Given the description of an element on the screen output the (x, y) to click on. 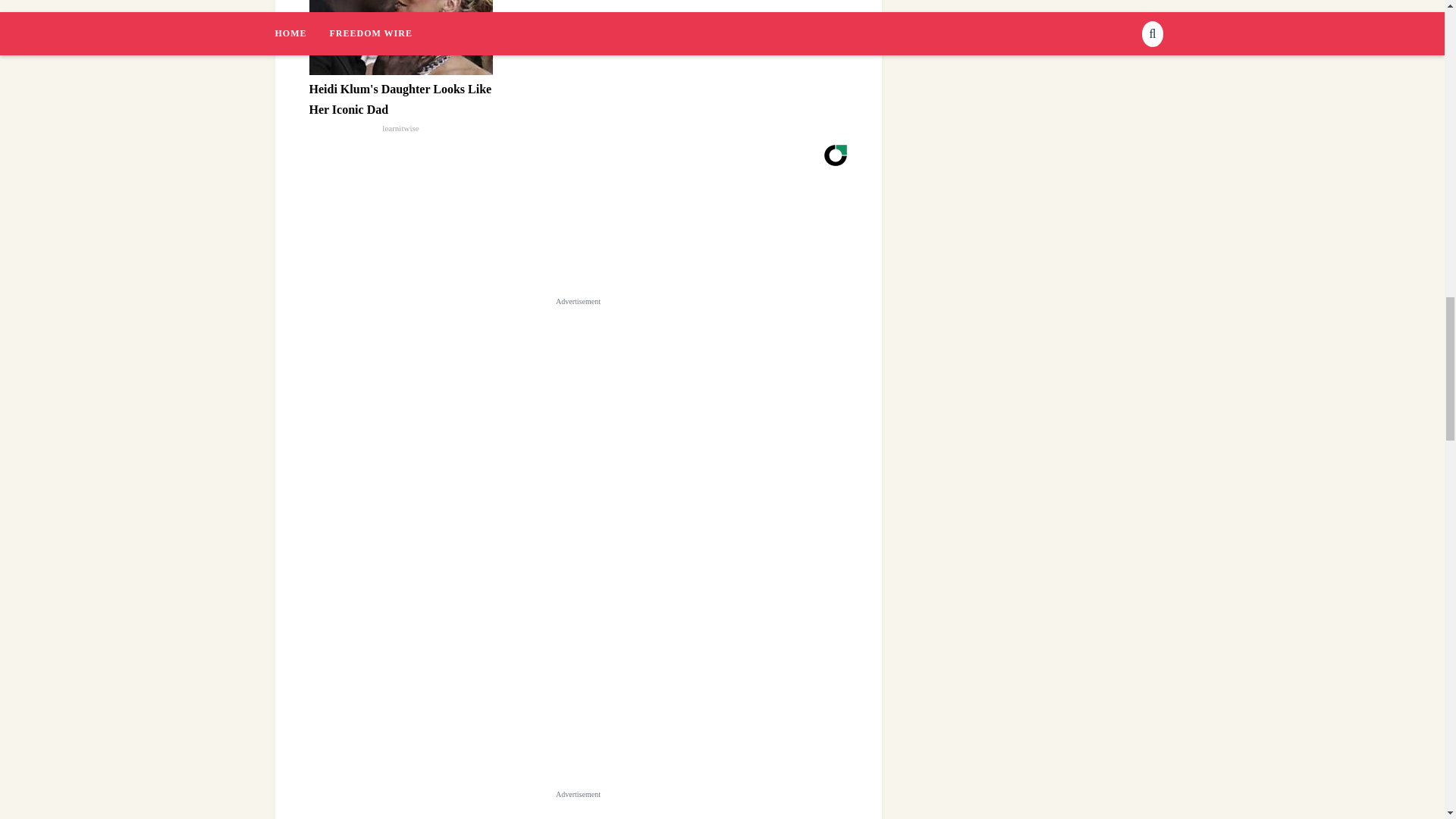
Vuukle Emotes Widget (532, 231)
3rd party ad content (578, 811)
3rd party ad content (577, 404)
Vuukle Comments Widget (577, 669)
